Given the description of an element on the screen output the (x, y) to click on. 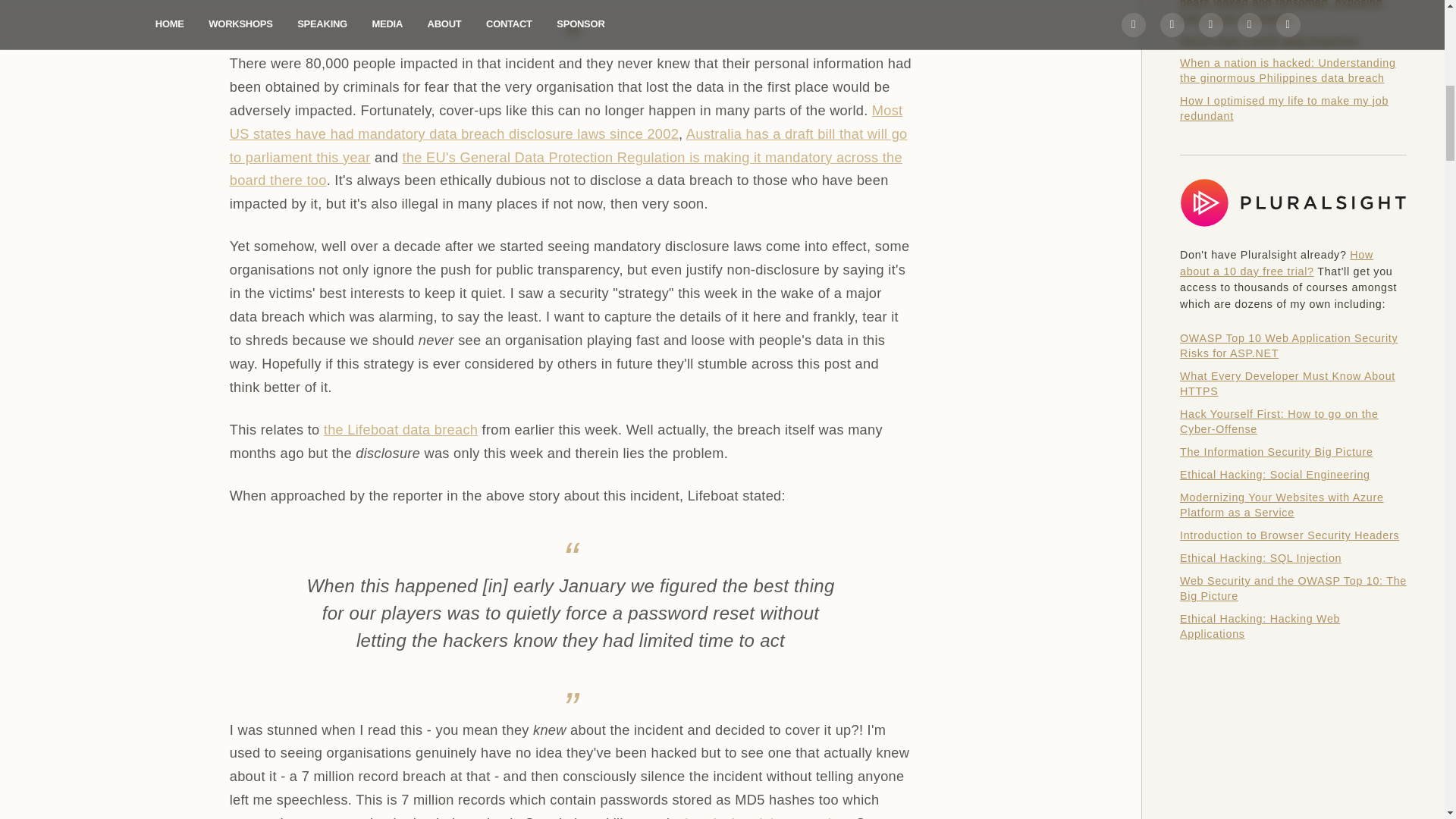
the Lifeboat data breach (400, 429)
here's the plain text value (765, 817)
